Given the description of an element on the screen output the (x, y) to click on. 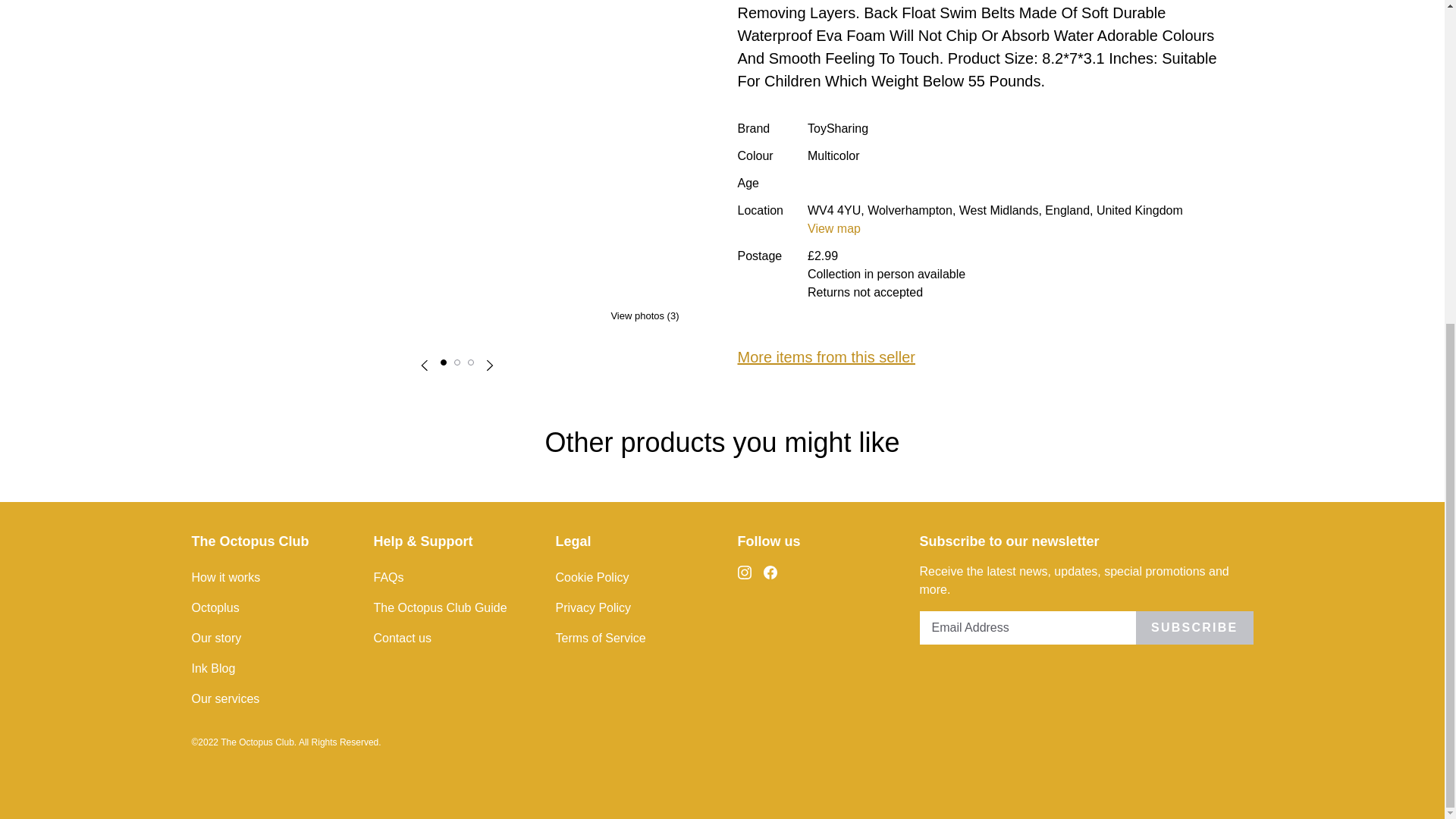
Ink Blog (266, 668)
View map (834, 228)
Our services (266, 698)
Octoplus (266, 607)
More items from this seller (825, 356)
How it works (266, 577)
Our story (266, 638)
